Given the description of an element on the screen output the (x, y) to click on. 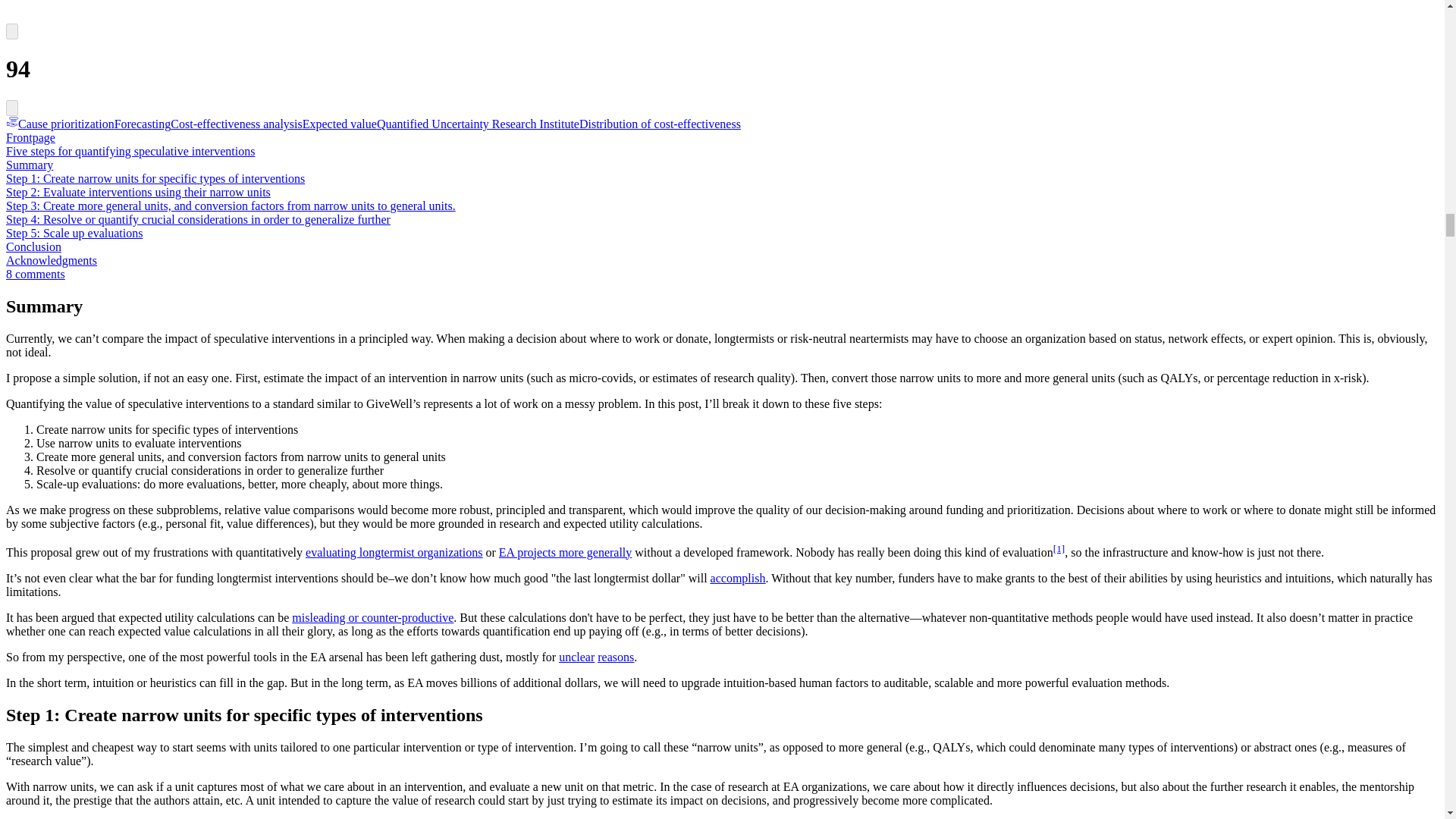
misleading or counter-productive (372, 617)
Cause prioritization (60, 123)
Summary (28, 164)
Distribution of cost-effectiveness (660, 123)
reasons (614, 656)
Cost-effectiveness analysis (235, 123)
Quantified Uncertainty Research Institute (478, 123)
EA projects more generally (565, 552)
8 comments (35, 273)
